Given the description of an element on the screen output the (x, y) to click on. 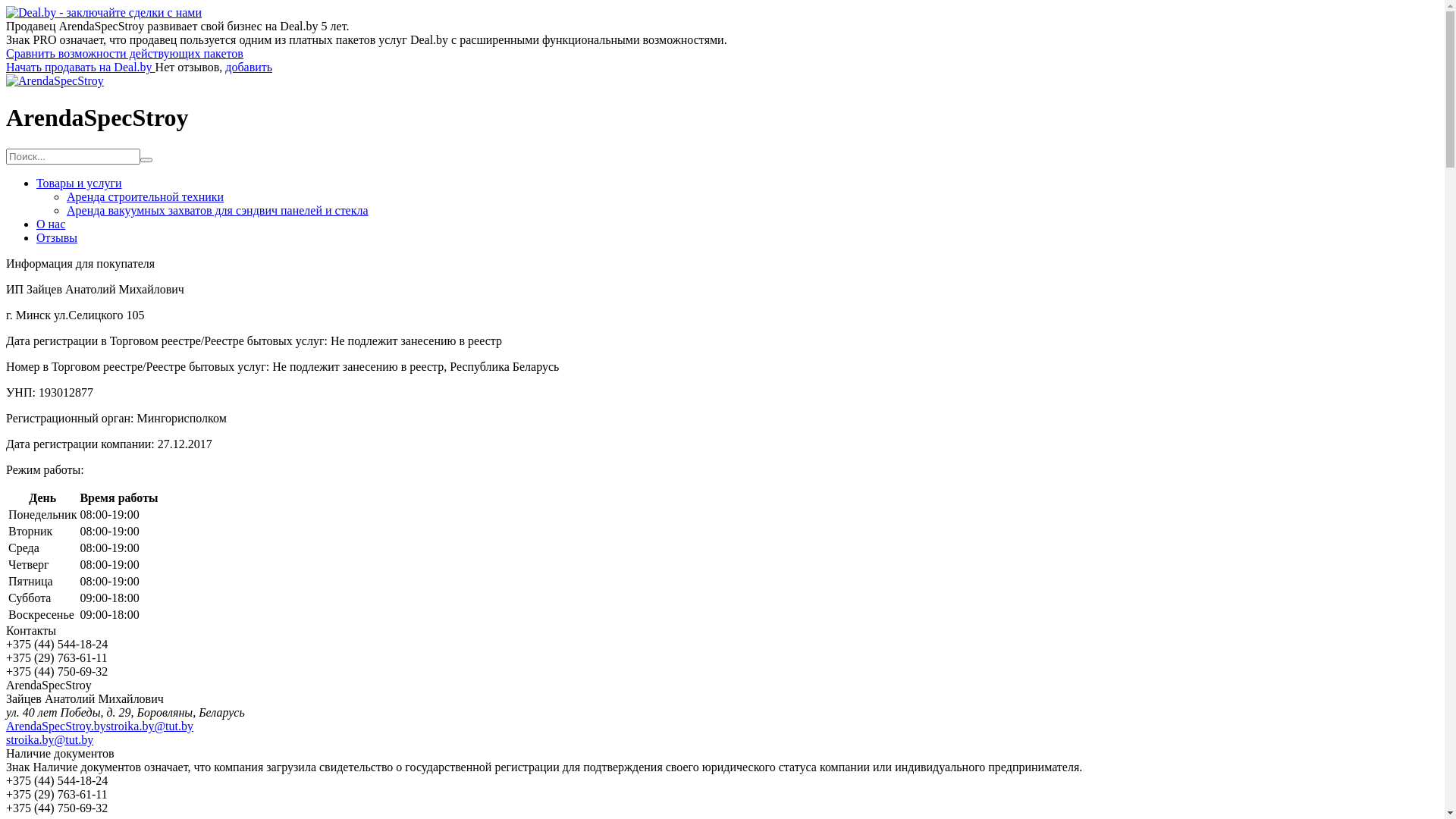
stroika.by@tut.by Element type: text (149, 725)
stroika.by@tut.by Element type: text (49, 739)
ArendaSpecStroy Element type: hover (54, 80)
ArendaSpecStroy.by Element type: text (56, 725)
